Given the description of an element on the screen output the (x, y) to click on. 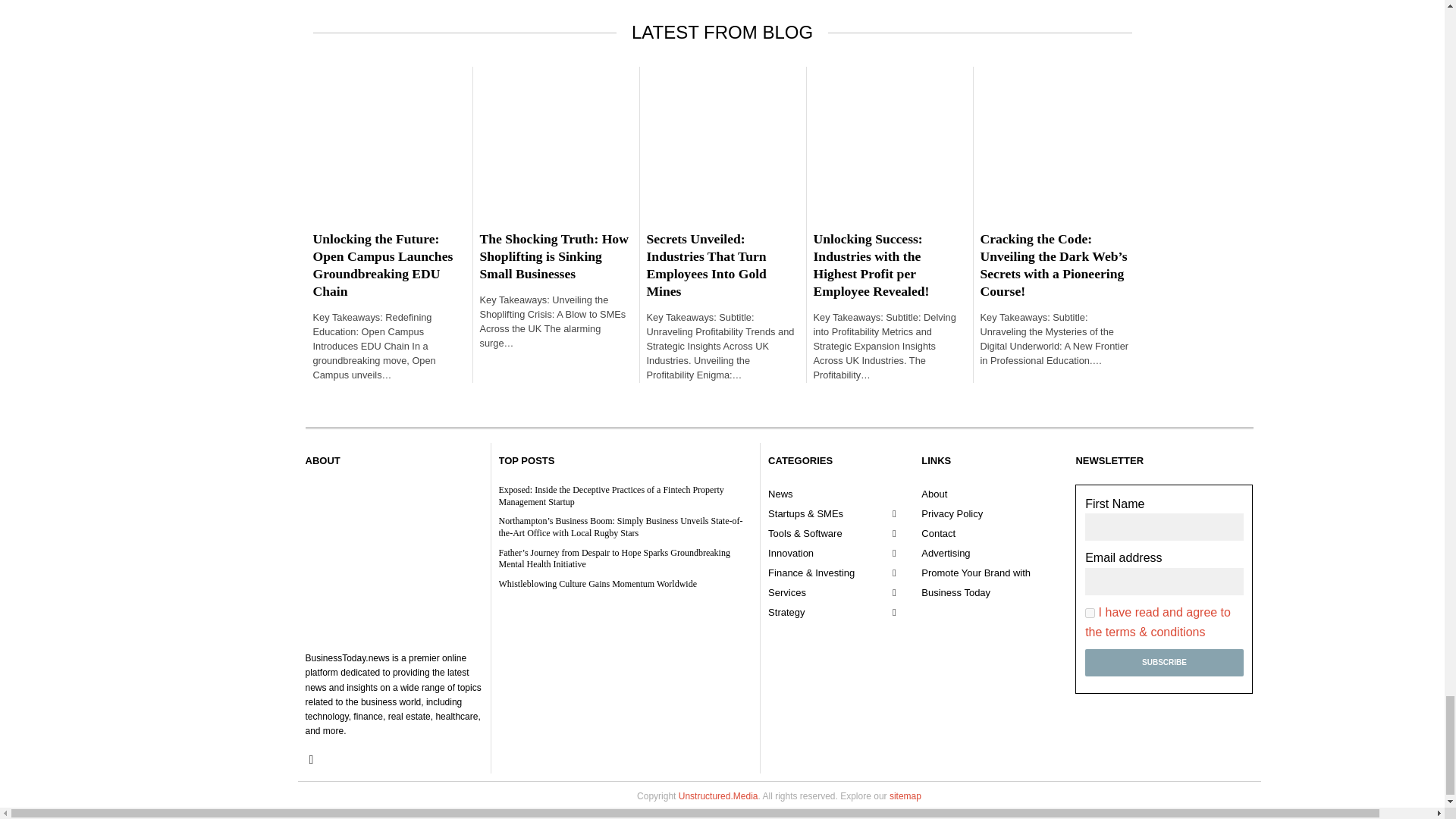
1 (1089, 613)
Subscribe (1163, 662)
